Given the description of an element on the screen output the (x, y) to click on. 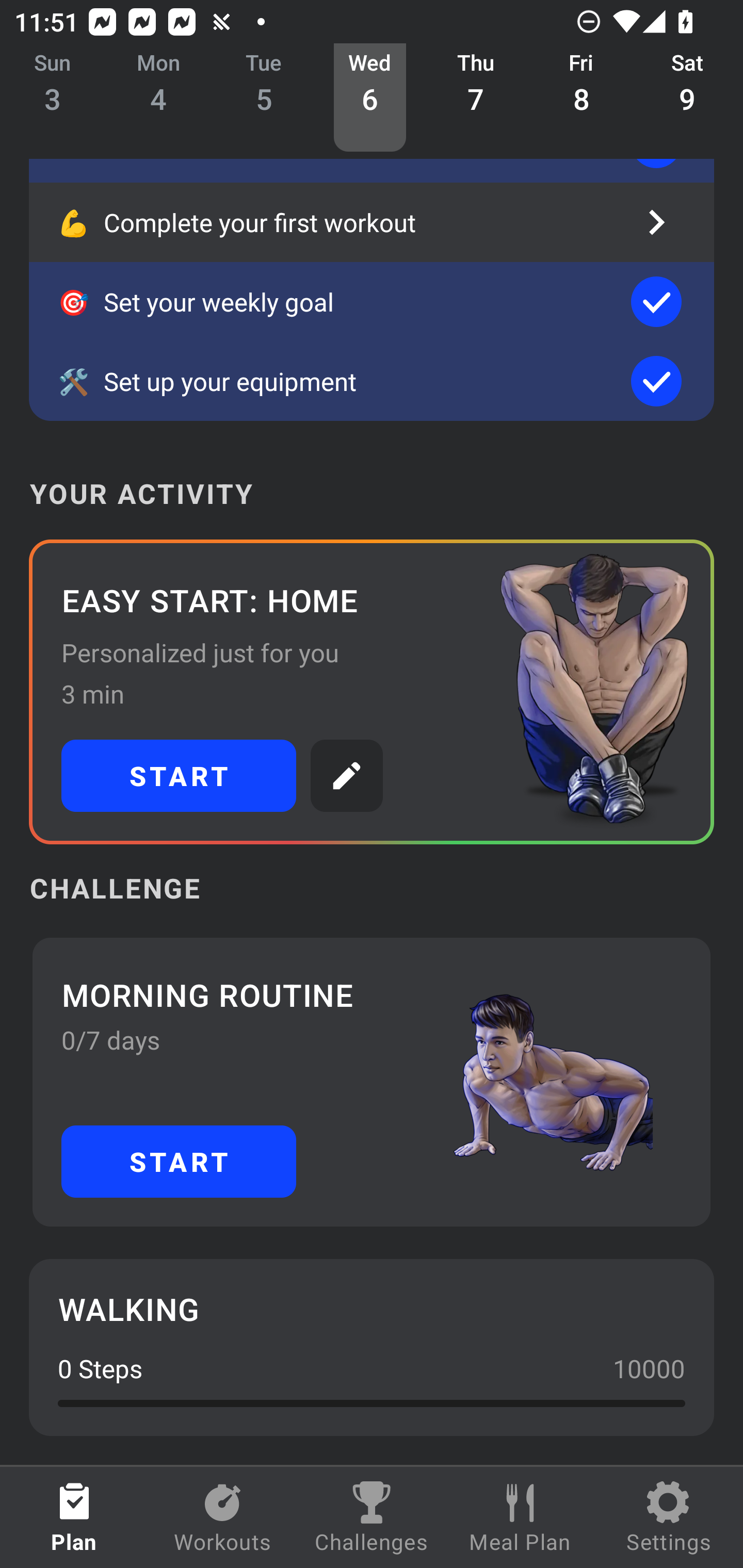
Sun 3 (52, 97)
Mon 4 (158, 97)
Tue 5 (264, 97)
Wed 6 (369, 97)
Thu 7 (475, 97)
Fri 8 (581, 97)
Sat 9 (687, 97)
💪 Complete your first workout (371, 221)
START (178, 776)
MORNING ROUTINE 0/7 days START (371, 1082)
START (178, 1161)
WALKING 0 Steps 10000 0.0 (371, 1347)
 Workouts  (222, 1517)
 Challenges  (371, 1517)
 Meal Plan  (519, 1517)
 Settings  (668, 1517)
